Given the description of an element on the screen output the (x, y) to click on. 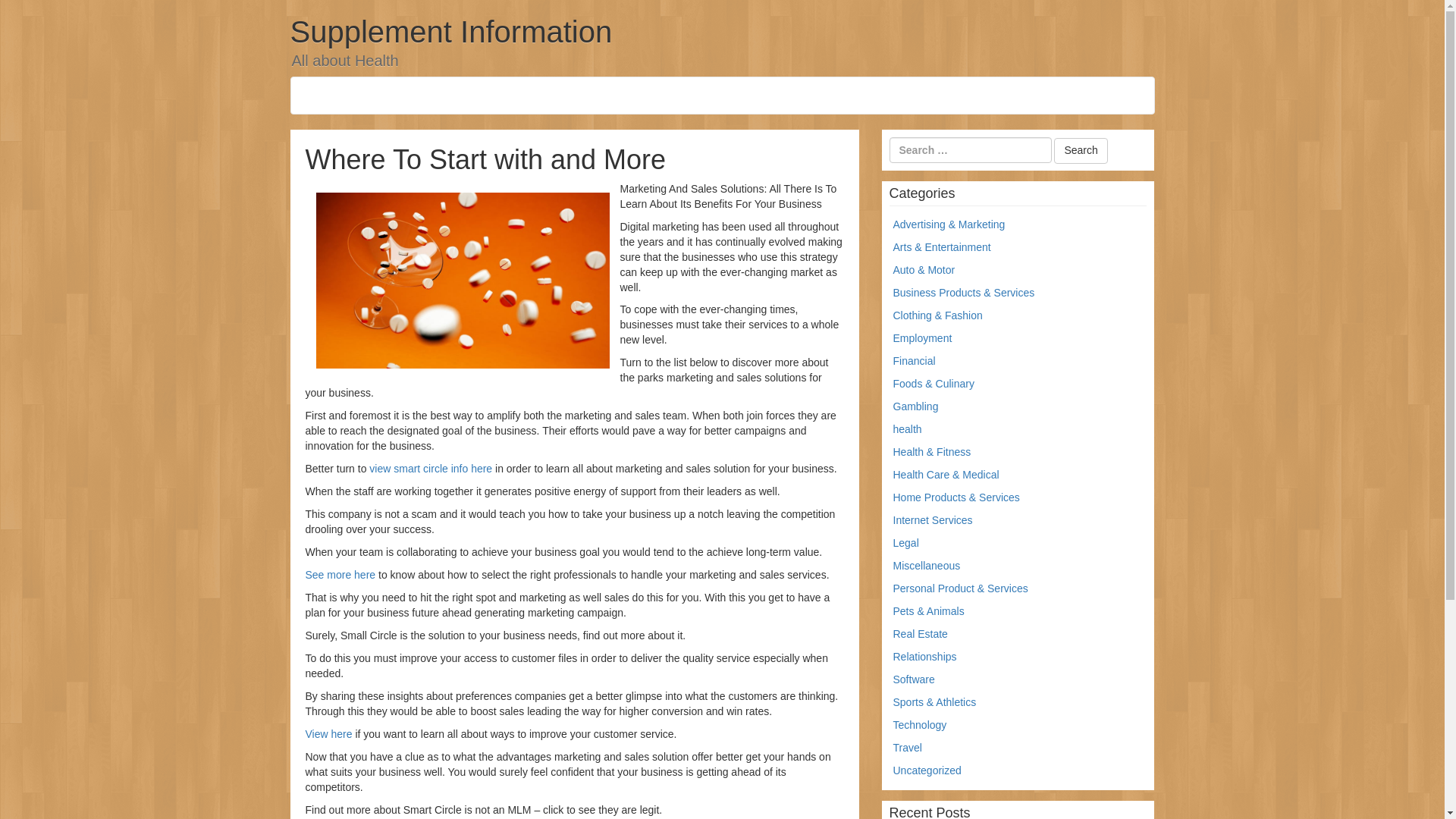
Legal (905, 542)
Search for: (969, 149)
health (907, 428)
Employment (922, 337)
See more here (339, 574)
Travel (907, 747)
Software (913, 679)
Search (1080, 150)
View here (328, 734)
Gambling (916, 406)
Supplement Information (450, 31)
Search (1080, 150)
Relationships (924, 656)
Supplement Information (450, 31)
Financial (914, 360)
